Given the description of an element on the screen output the (x, y) to click on. 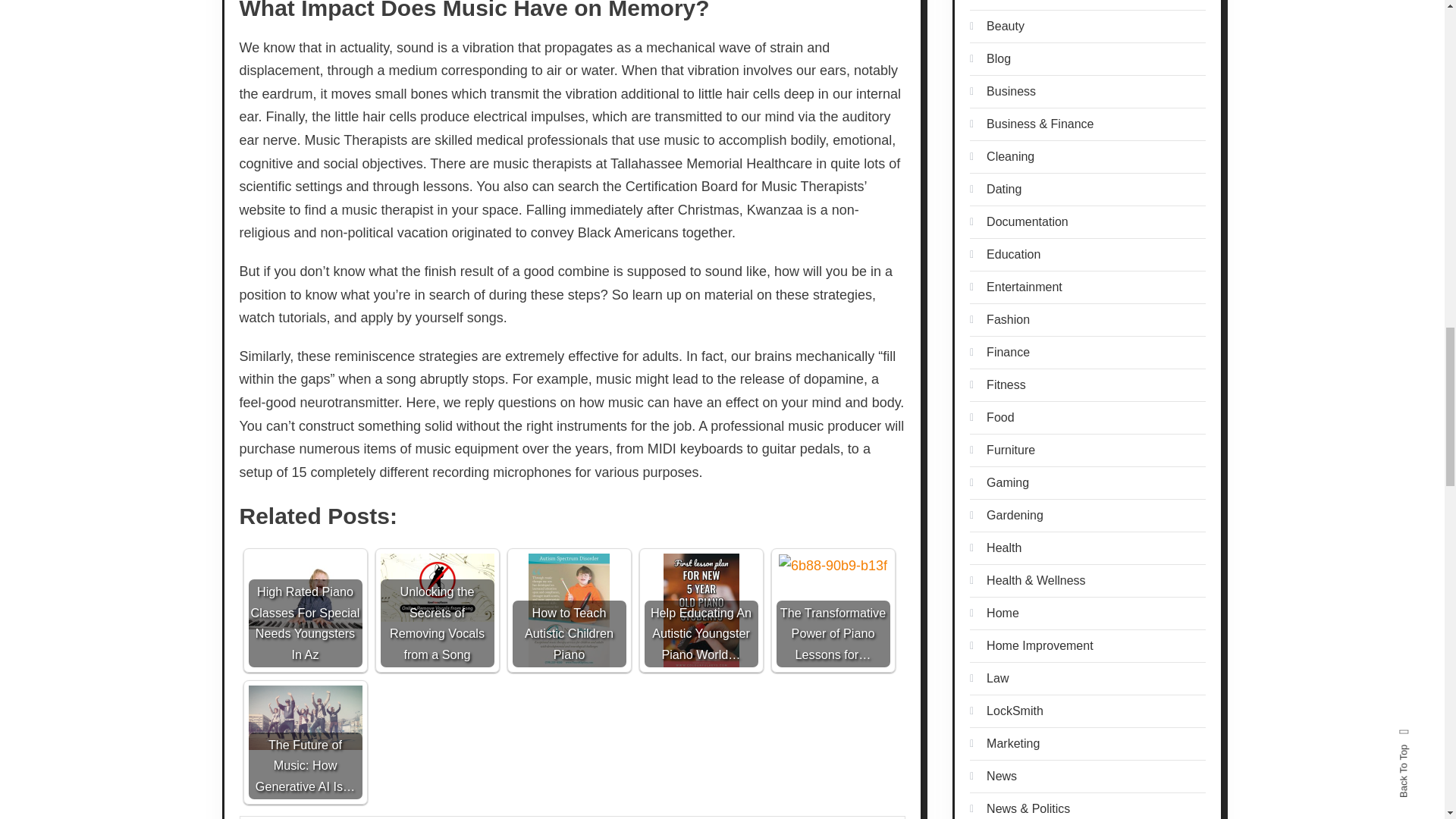
Unlocking the Secrets of Removing Vocals from a Song (437, 610)
How to Teach Autistic Children Piano (569, 610)
Unlocking the Secrets of Removing Vocals from a Song (437, 587)
High Rated Piano Classes For Special Needs Youngsters In Az (305, 591)
High Rated Piano Classes For Special Needs Youngsters In Az (305, 610)
